Given the description of an element on the screen output the (x, y) to click on. 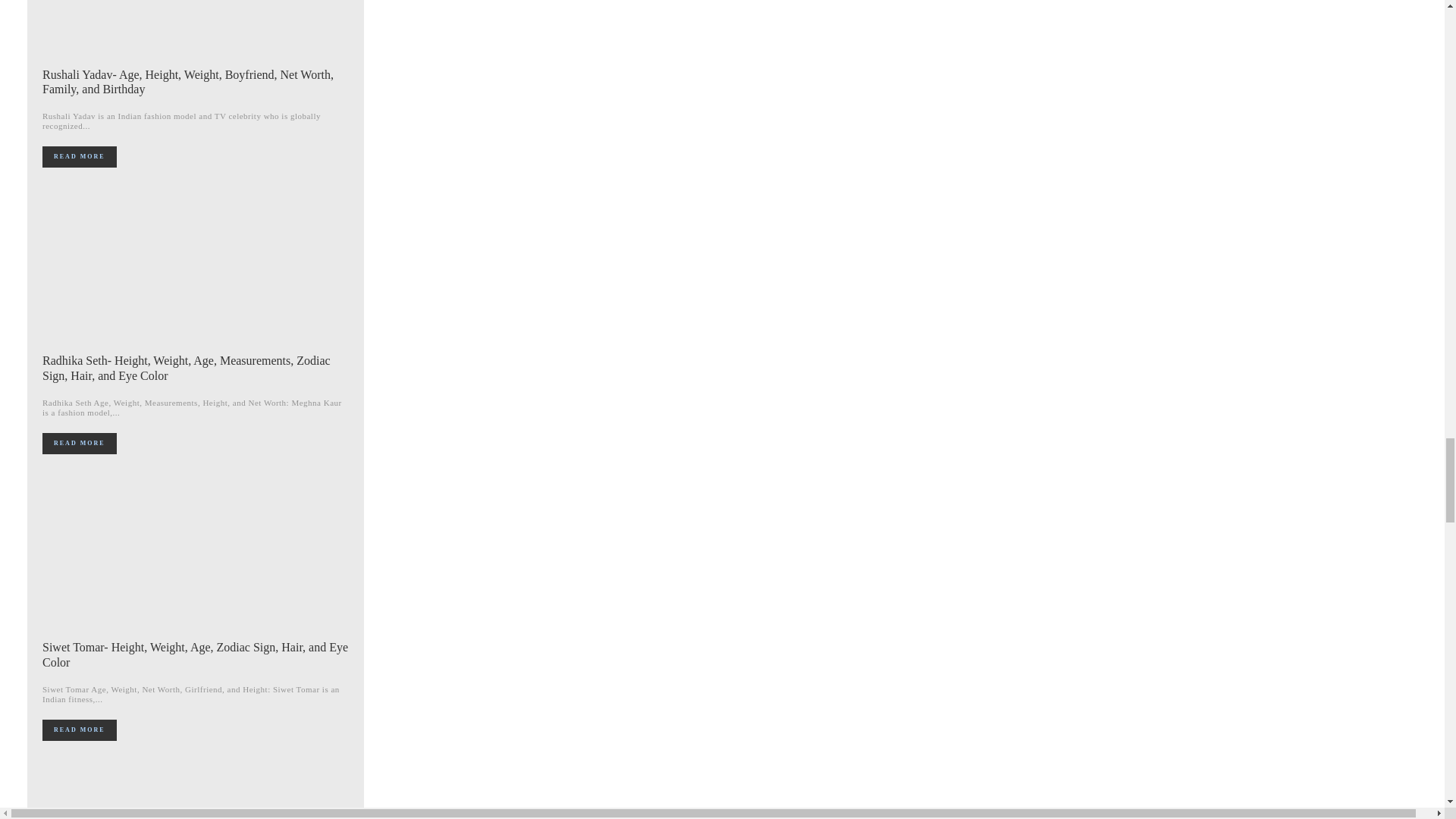
Read more (79, 443)
Read more (79, 156)
Read more (79, 730)
